Given the description of an element on the screen output the (x, y) to click on. 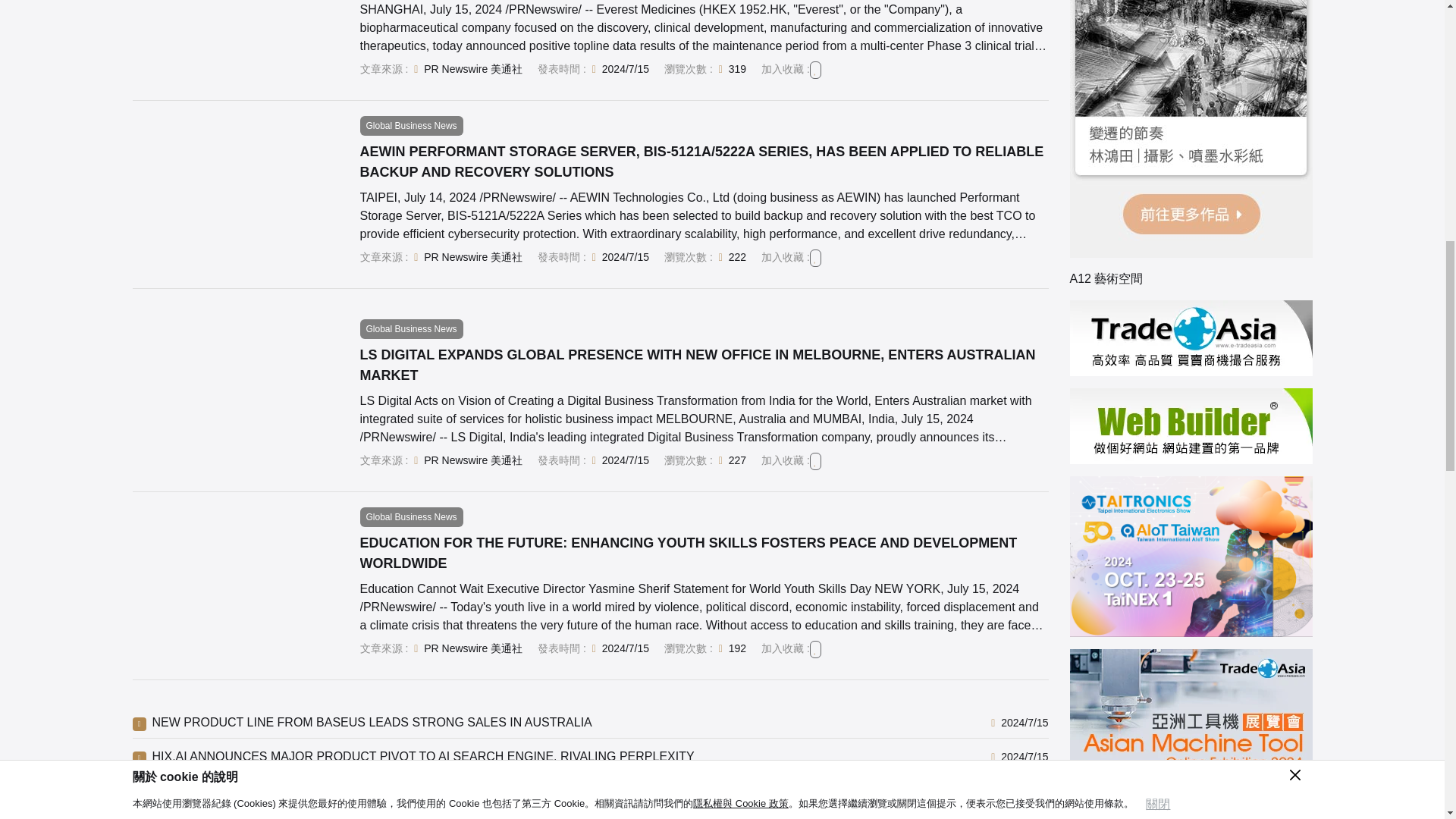
Web Builder (1189, 426)
TradeAsia (1189, 337)
